Given the description of an element on the screen output the (x, y) to click on. 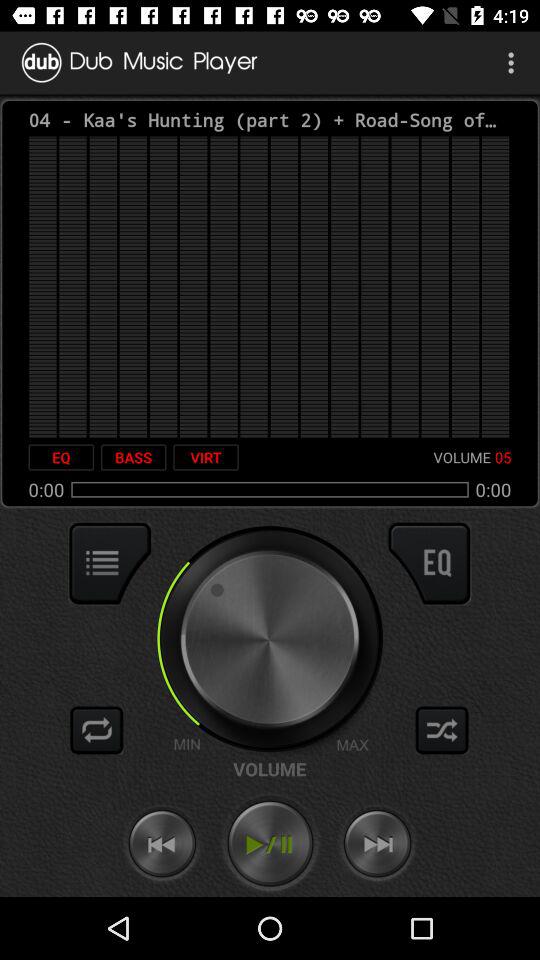
turn off icon next to the volume item (205, 457)
